Given the description of an element on the screen output the (x, y) to click on. 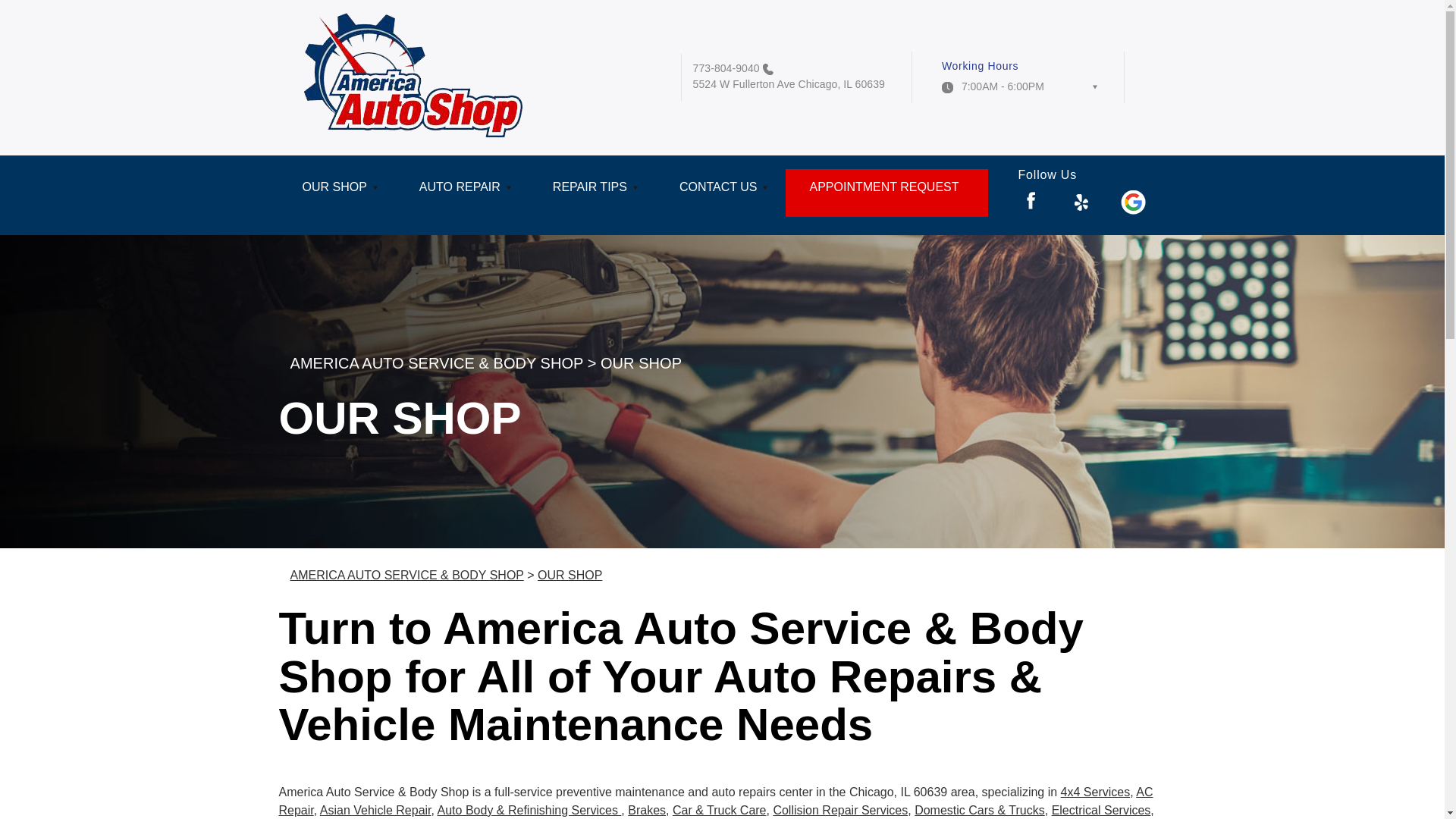
APPOINTMENT REQUEST (886, 192)
AUTO REPAIR (462, 192)
OUR SHOP (337, 192)
REPAIR TIPS (592, 192)
773-804-9040 (726, 68)
CONTACT US (721, 192)
7:00AM - 6:00PM (1019, 90)
